Given the description of an element on the screen output the (x, y) to click on. 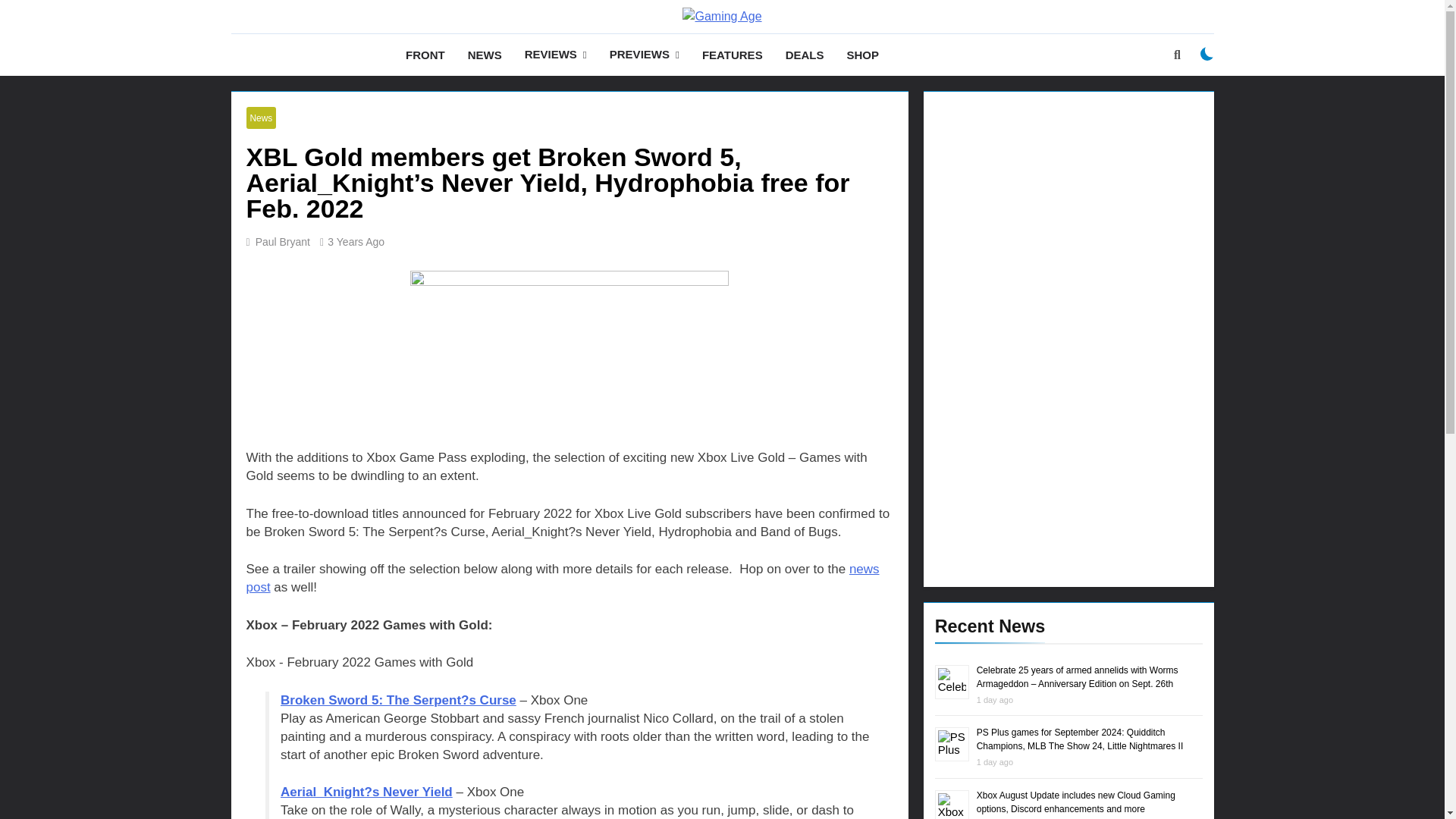
DEALS (804, 55)
on (1206, 53)
REVIEWS (555, 55)
NEWS (485, 55)
Gaming Age (571, 42)
SHOP (861, 55)
PREVIEWS (644, 55)
Xbox - February 2022 Games with Gold (569, 662)
FEATURES (732, 55)
FRONT (425, 55)
